Given the description of an element on the screen output the (x, y) to click on. 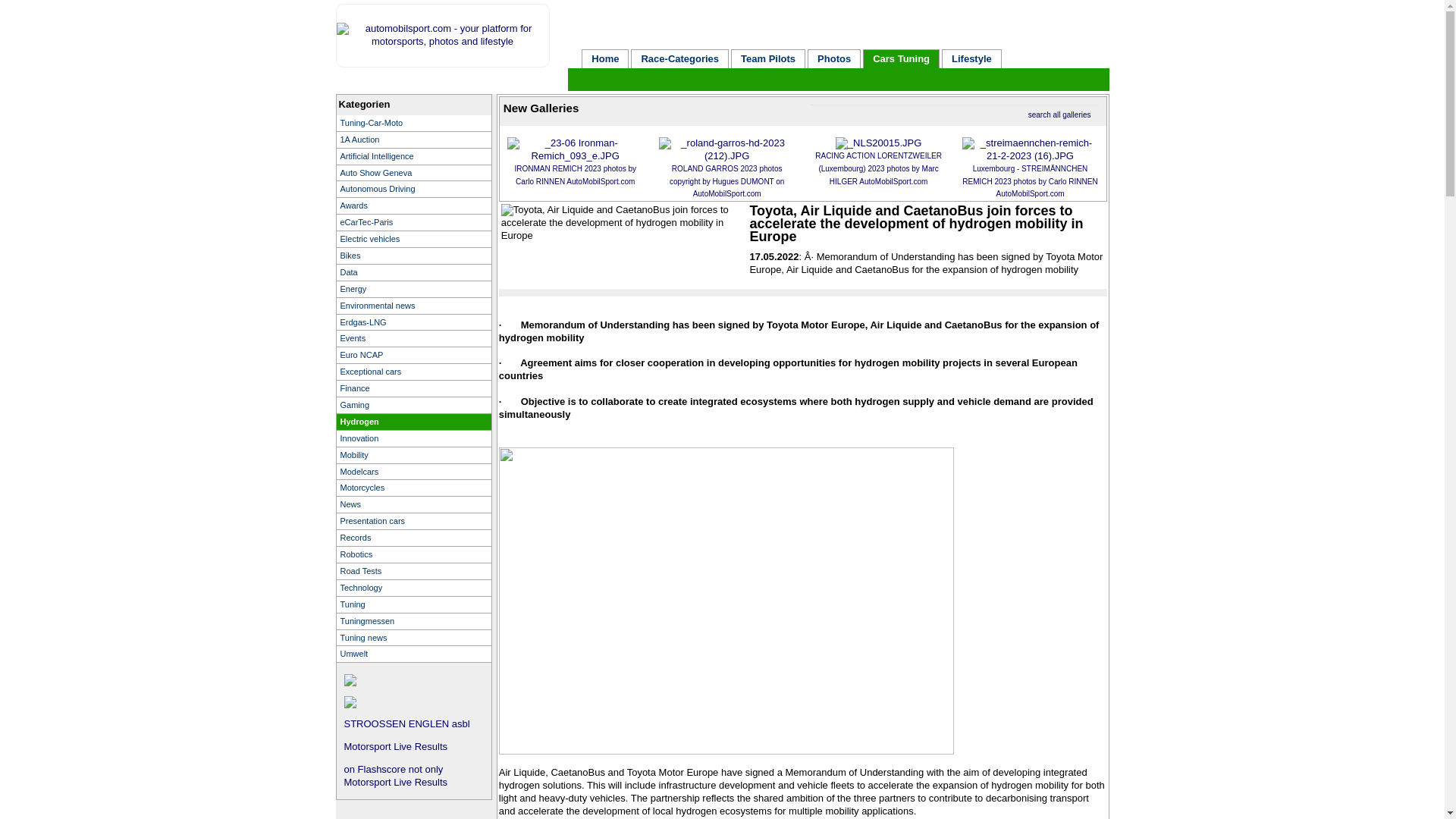
Photos (834, 58)
Cars Tuning (901, 58)
Cars Tuning (901, 58)
Photos (834, 58)
search all galleries (1058, 114)
Race-Categories (679, 58)
